Given the description of an element on the screen output the (x, y) to click on. 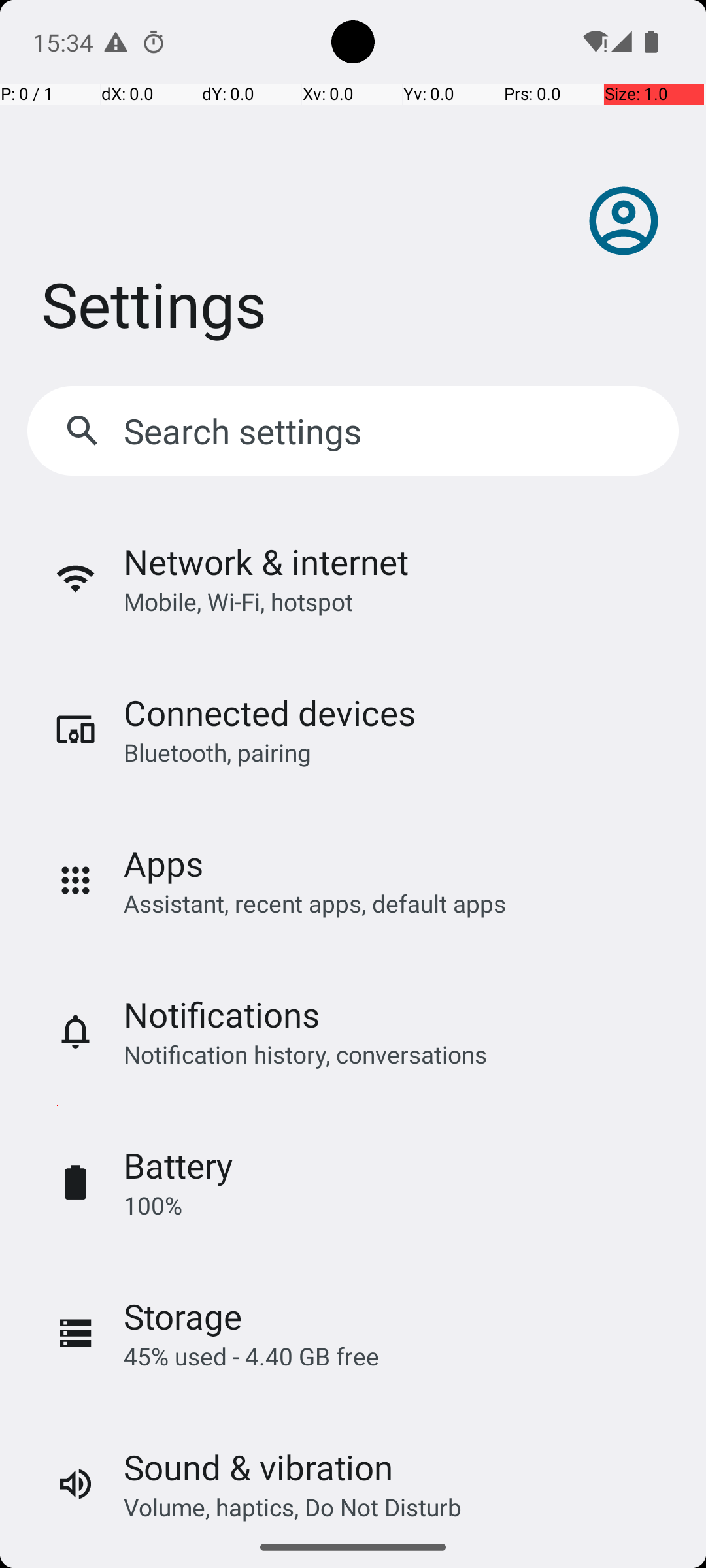
Profile picture, double tap to open Google Account Element type: android.widget.ImageView (623, 220)
Search settings Element type: android.widget.TextView (245, 430)
Network & internet Element type: android.widget.TextView (265, 561)
Mobile, Wi‑Fi, hotspot Element type: android.widget.TextView (238, 601)
Connected devices Element type: android.widget.TextView (269, 712)
Bluetooth, pairing Element type: android.widget.TextView (217, 751)
Apps Element type: android.widget.TextView (163, 863)
Assistant, recent apps, default apps Element type: android.widget.TextView (314, 902)
Notifications Element type: android.widget.TextView (221, 1014)
Notification history, conversations Element type: android.widget.TextView (305, 1053)
Battery Element type: android.widget.TextView (178, 1165)
100% Element type: android.widget.TextView (152, 1204)
Storage Element type: android.widget.TextView (182, 1315)
45% used - 4.40 GB free Element type: android.widget.TextView (251, 1355)
Sound & vibration Element type: android.widget.TextView (257, 1466)
Volume, haptics, Do Not Disturb Element type: android.widget.TextView (292, 1506)
Android System notification:  Element type: android.widget.ImageView (115, 41)
